Given the description of an element on the screen output the (x, y) to click on. 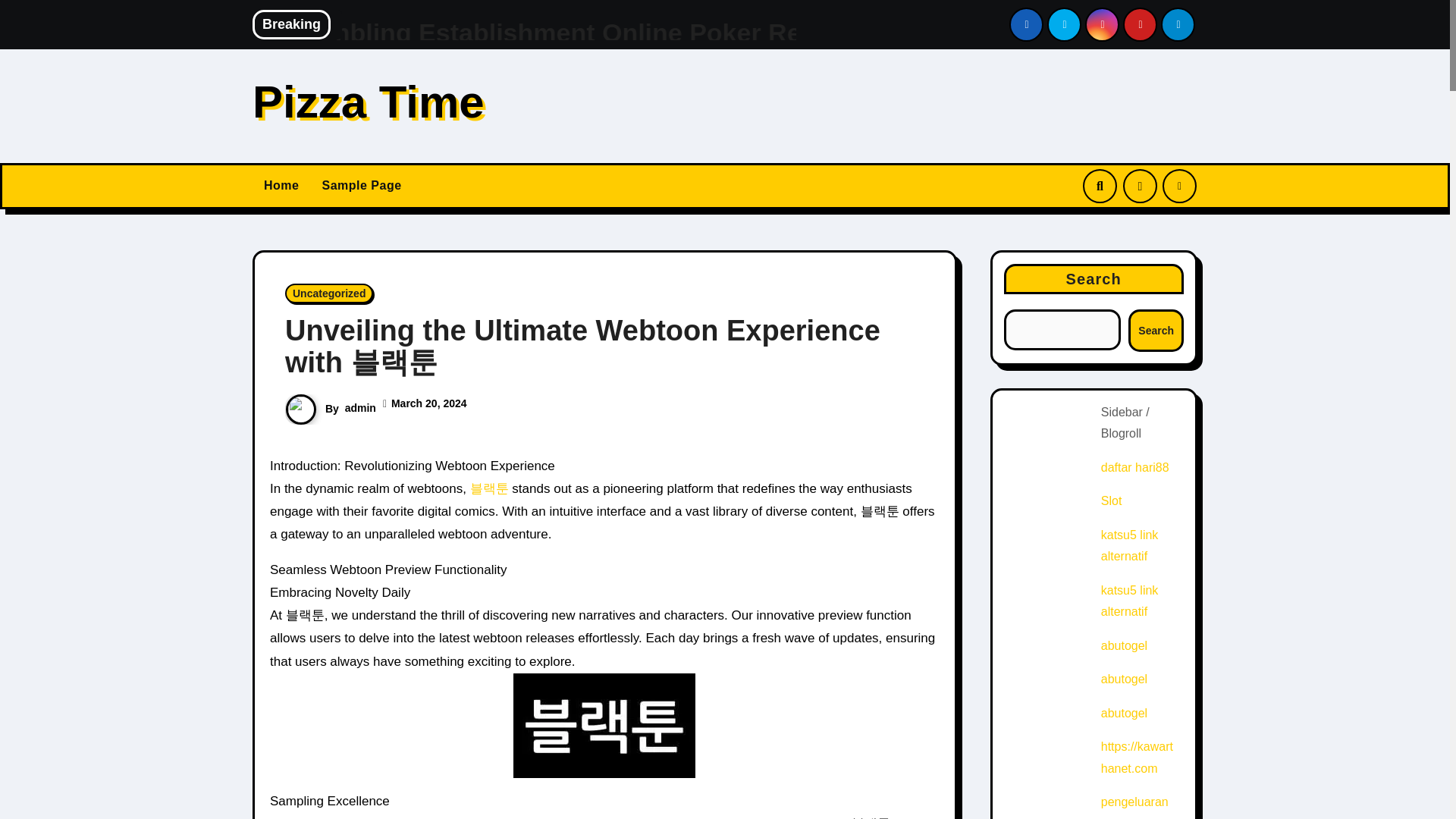
Pizza Time (367, 101)
Home (280, 185)
March 20, 2024 (429, 403)
Home (280, 185)
Sample Page (361, 185)
admin (360, 408)
Uncategorized (328, 293)
